Given the description of an element on the screen output the (x, y) to click on. 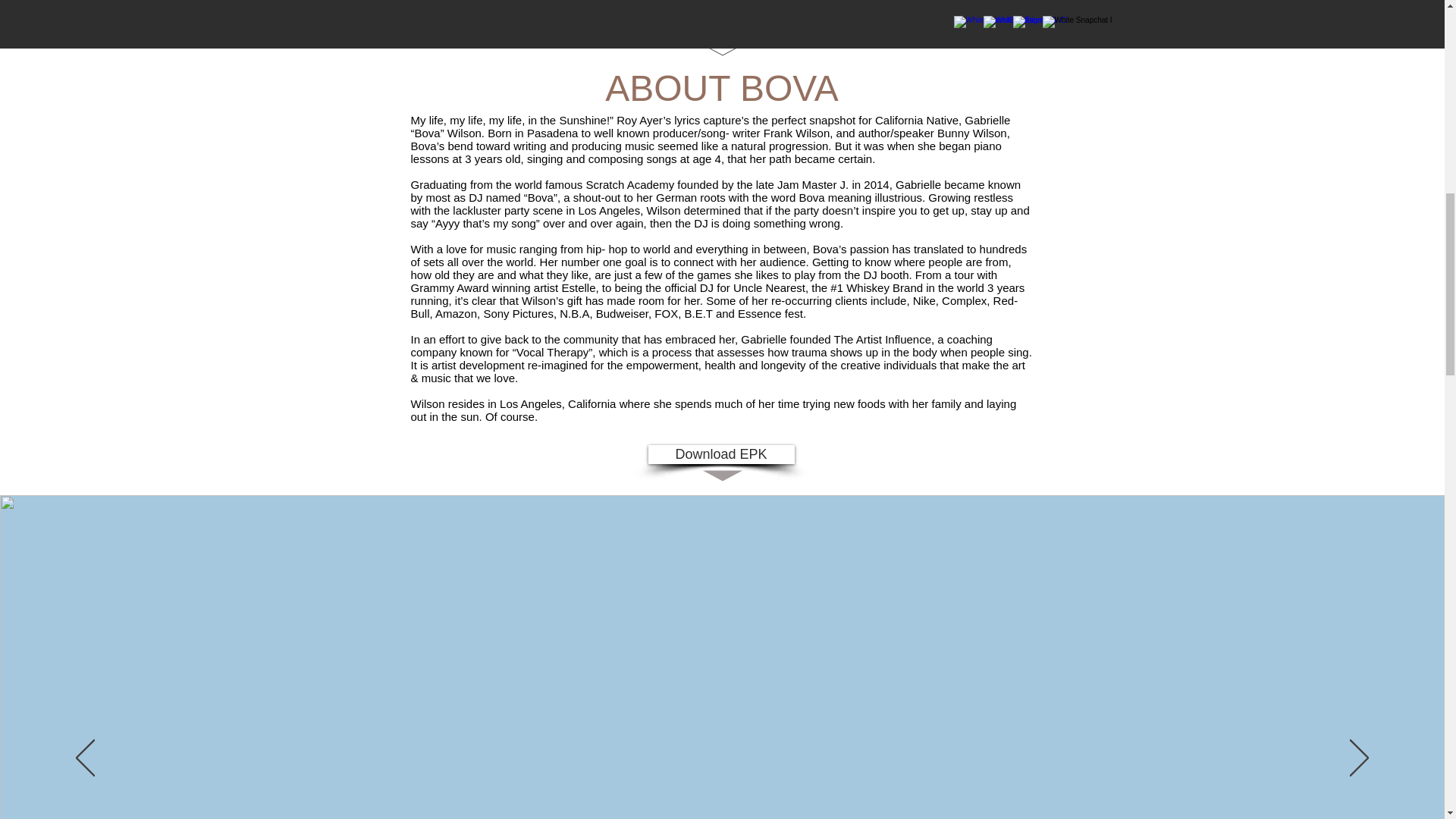
Download EPK (720, 454)
